Given the description of an element on the screen output the (x, y) to click on. 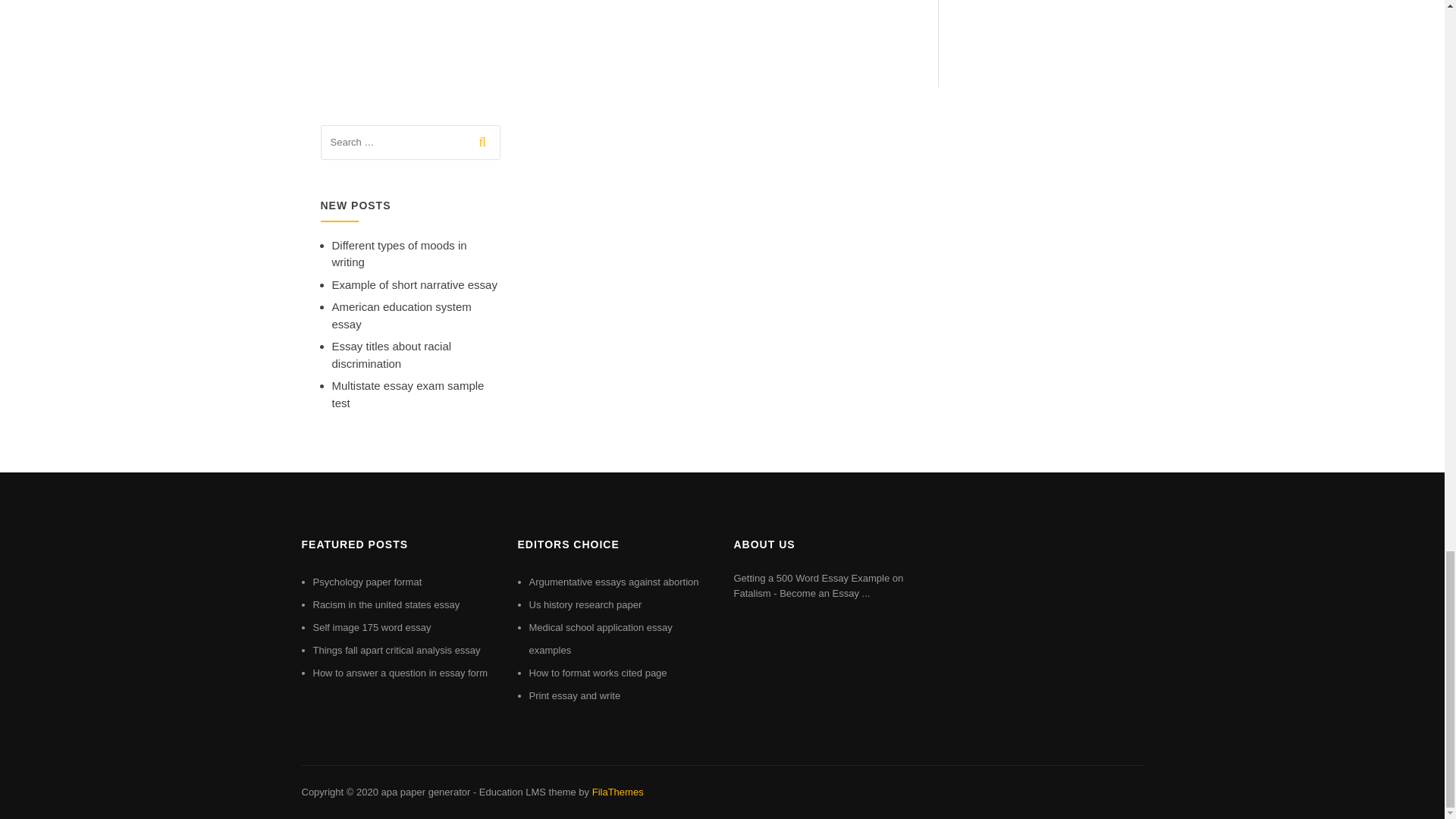
American education system essay (401, 315)
Argumentative essays against abortion (613, 582)
Us history research paper (585, 604)
Essay titles about racial discrimination (391, 354)
How to format works cited page (597, 672)
Things fall apart critical analysis essay (396, 650)
Medical school application essay examples (600, 638)
Different types of moods in writing (399, 254)
Racism in the united states essay (386, 604)
Self image 175 word essay (371, 627)
apa paper generator (425, 791)
Example of short narrative essay (414, 284)
How to answer a question in essay form (400, 672)
Print essay and write (575, 695)
Psychology paper format (367, 582)
